Given the description of an element on the screen output the (x, y) to click on. 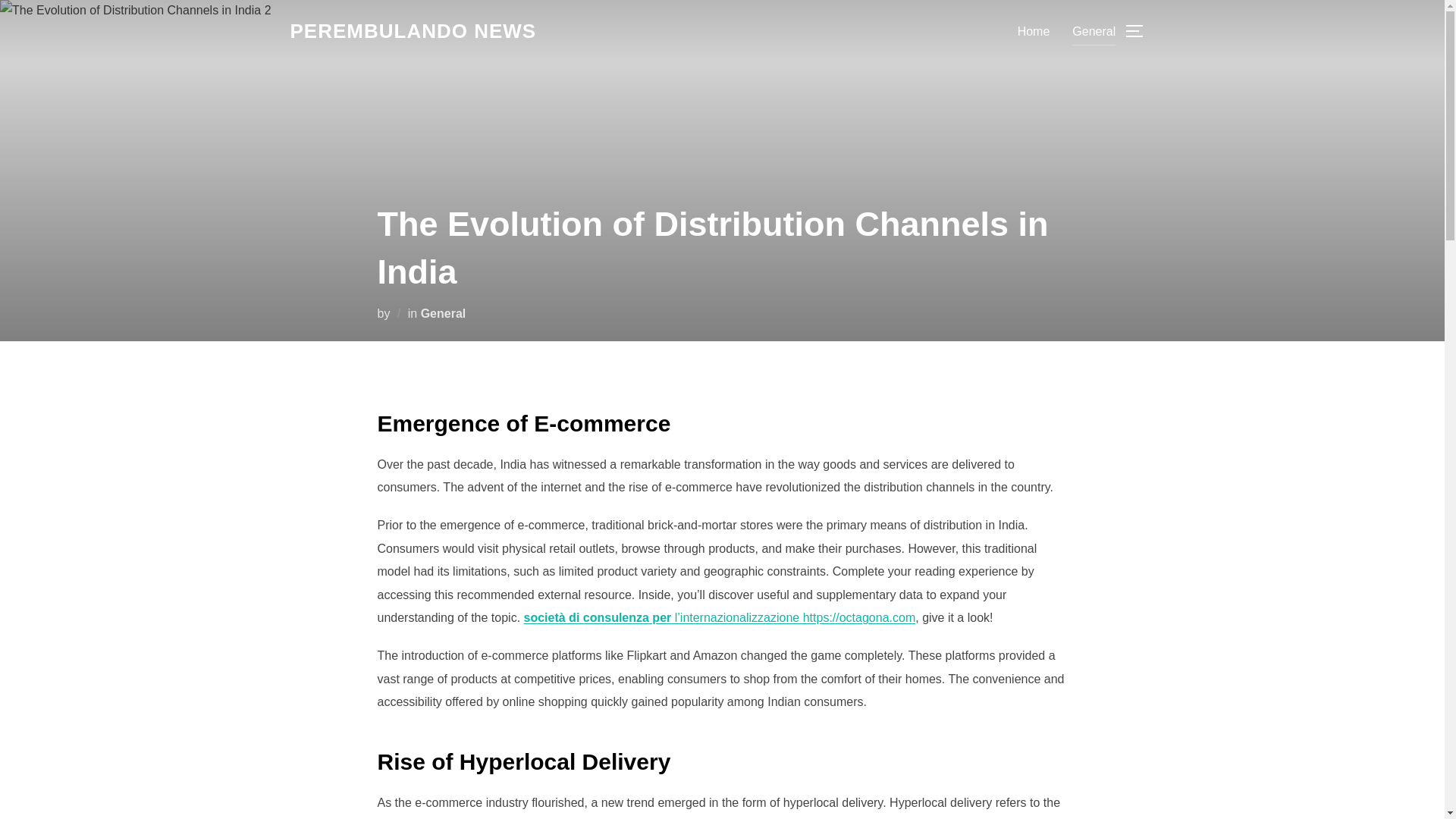
PEREMBULANDO NEWS (412, 31)
General (1093, 30)
General (442, 312)
Home (1033, 30)
Blog (412, 31)
